Given the description of an element on the screen output the (x, y) to click on. 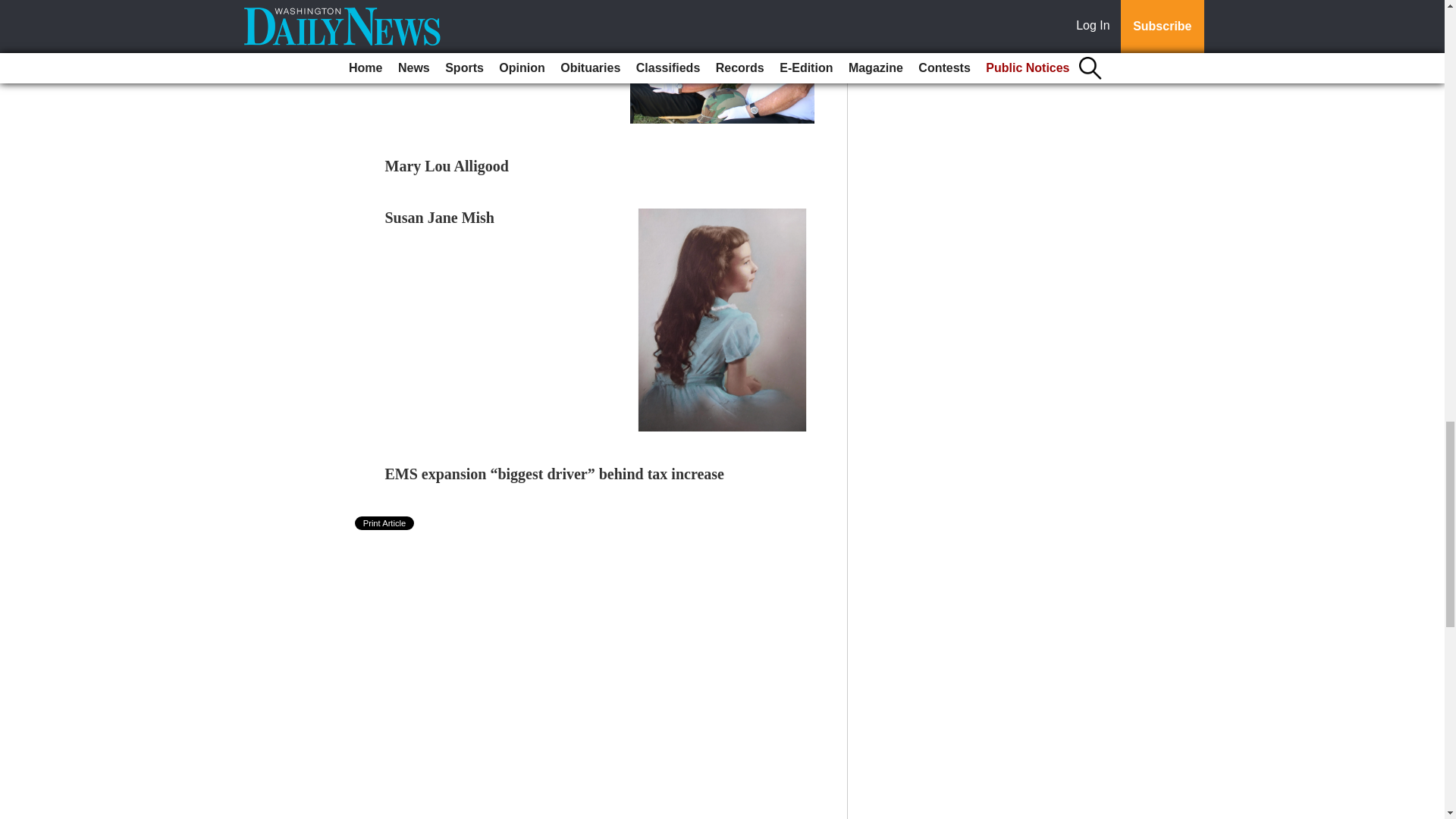
Mary Lou Alligood (446, 166)
Susan Jane Mish (440, 217)
Print Article (384, 522)
Susan Jane Mish (440, 217)
Mary Lou Alligood (446, 166)
